Given the description of an element on the screen output the (x, y) to click on. 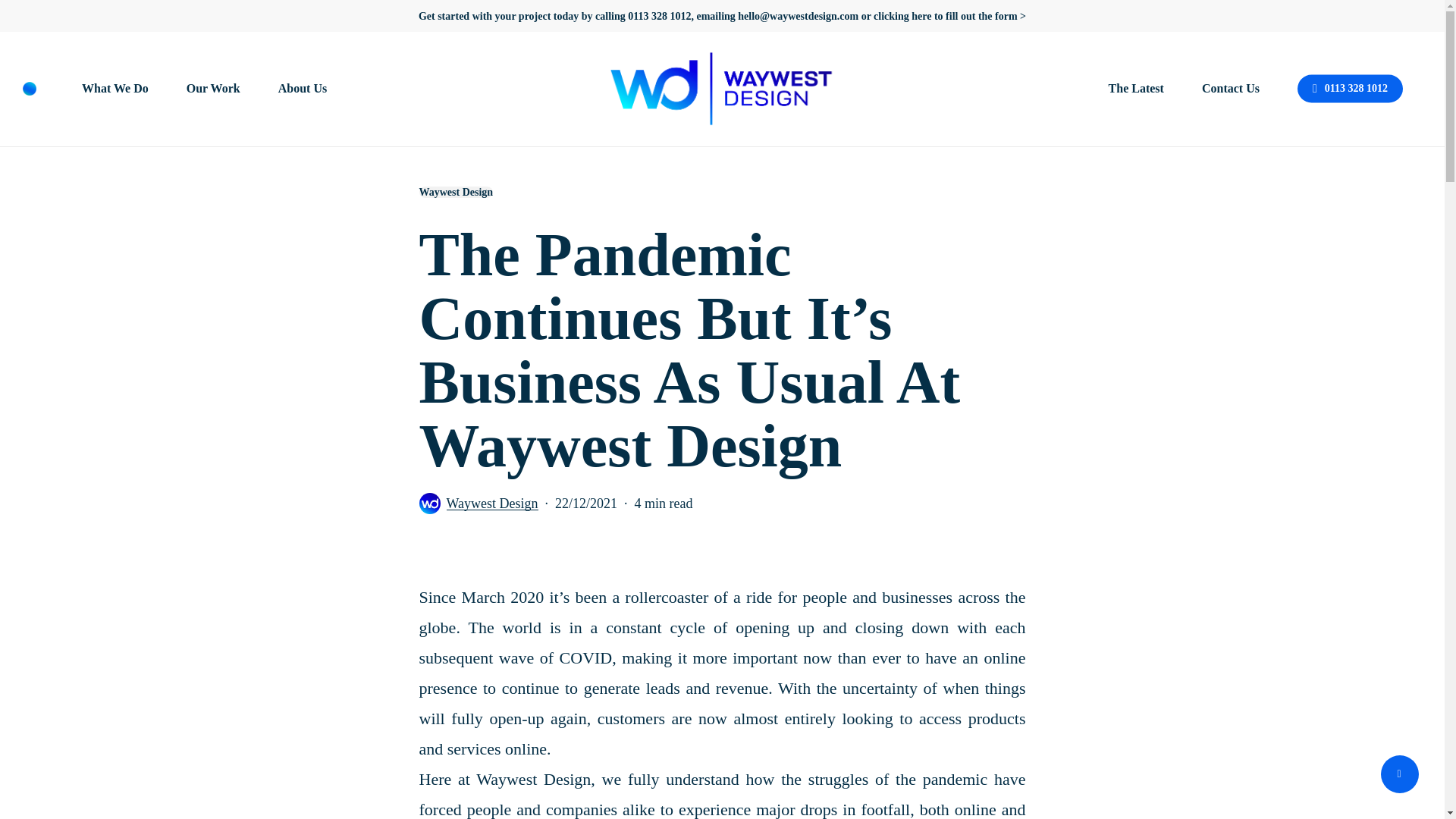
Contact Us (1230, 88)
What We Do (114, 88)
Posts by Waywest Design (491, 503)
About Us (302, 88)
The Latest (1135, 88)
Our Work (213, 88)
